Given the description of an element on the screen output the (x, y) to click on. 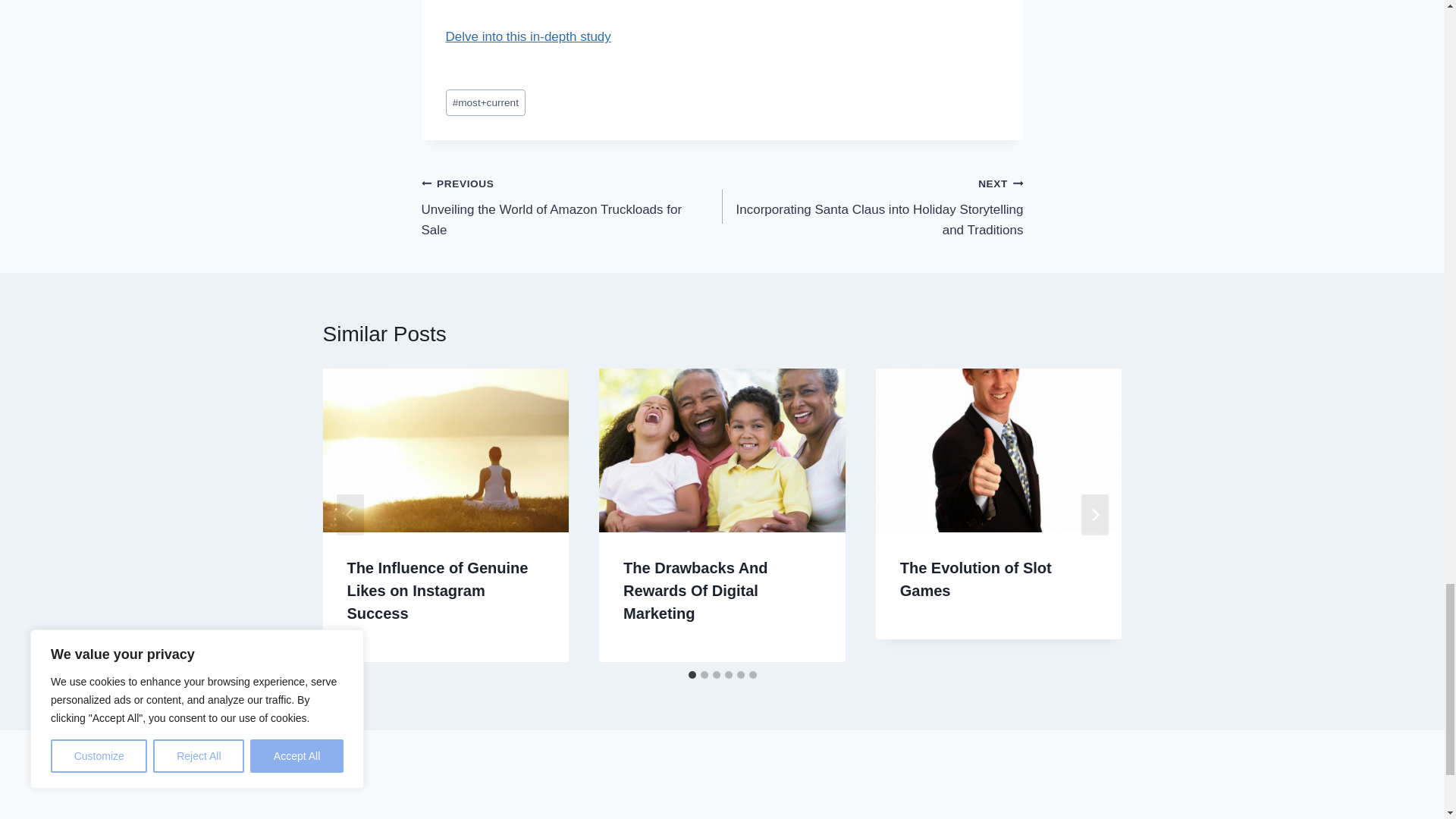
Delve into this in-depth study (572, 206)
